Given the description of an element on the screen output the (x, y) to click on. 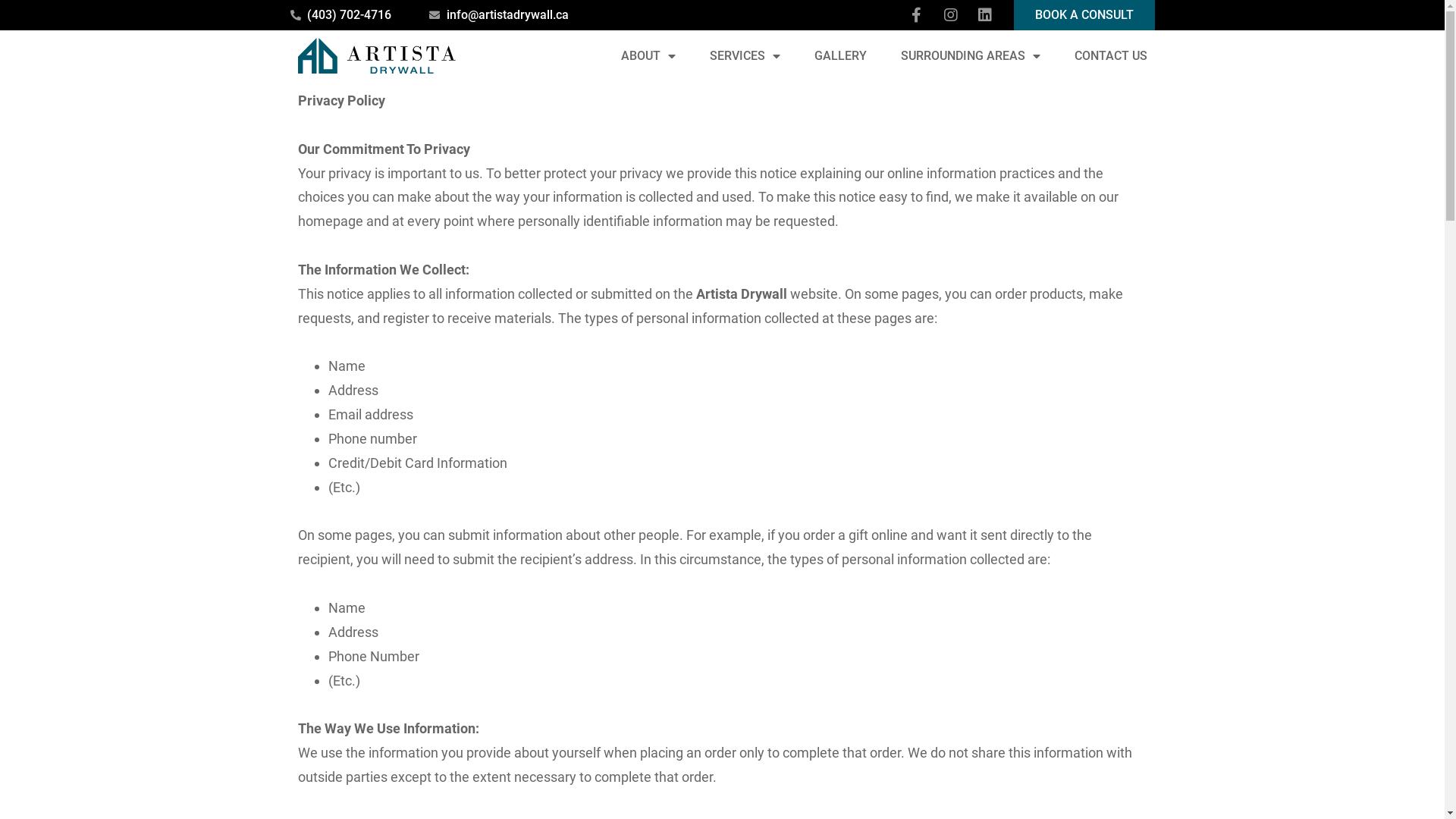
ABOUT Element type: text (647, 55)
CONTACT US Element type: text (1109, 55)
SURROUNDING AREAS Element type: text (970, 55)
info@artistadrywall.ca Element type: text (498, 14)
BOOK A CONSULT Element type: text (1083, 15)
(403) 702-4716 Element type: text (340, 14)
SERVICES Element type: text (744, 55)
GALLERY Element type: text (840, 55)
